Given the description of an element on the screen output the (x, y) to click on. 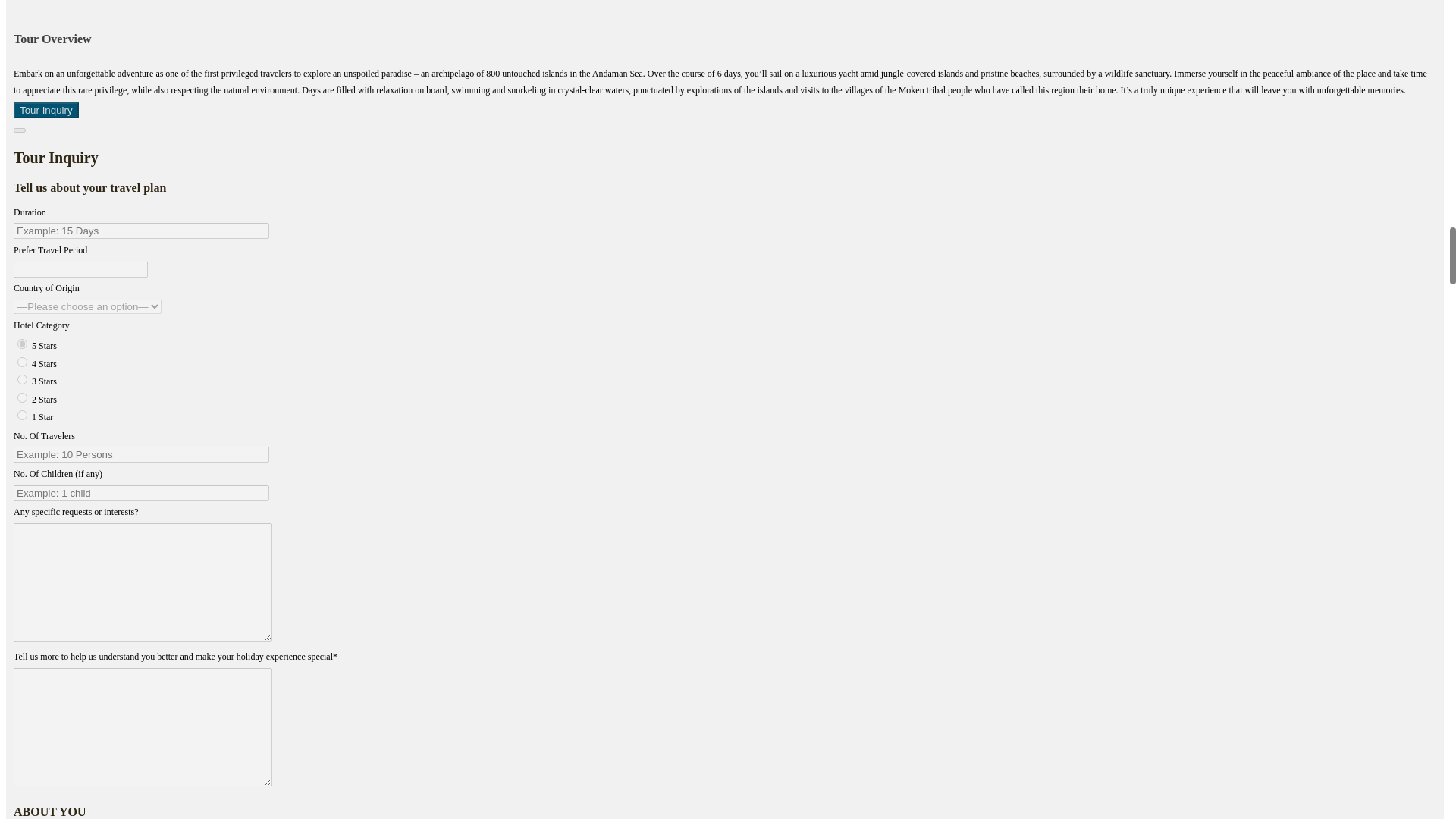
on (22, 361)
on (22, 397)
on (22, 343)
on (22, 415)
on (22, 379)
